Given the description of an element on the screen output the (x, y) to click on. 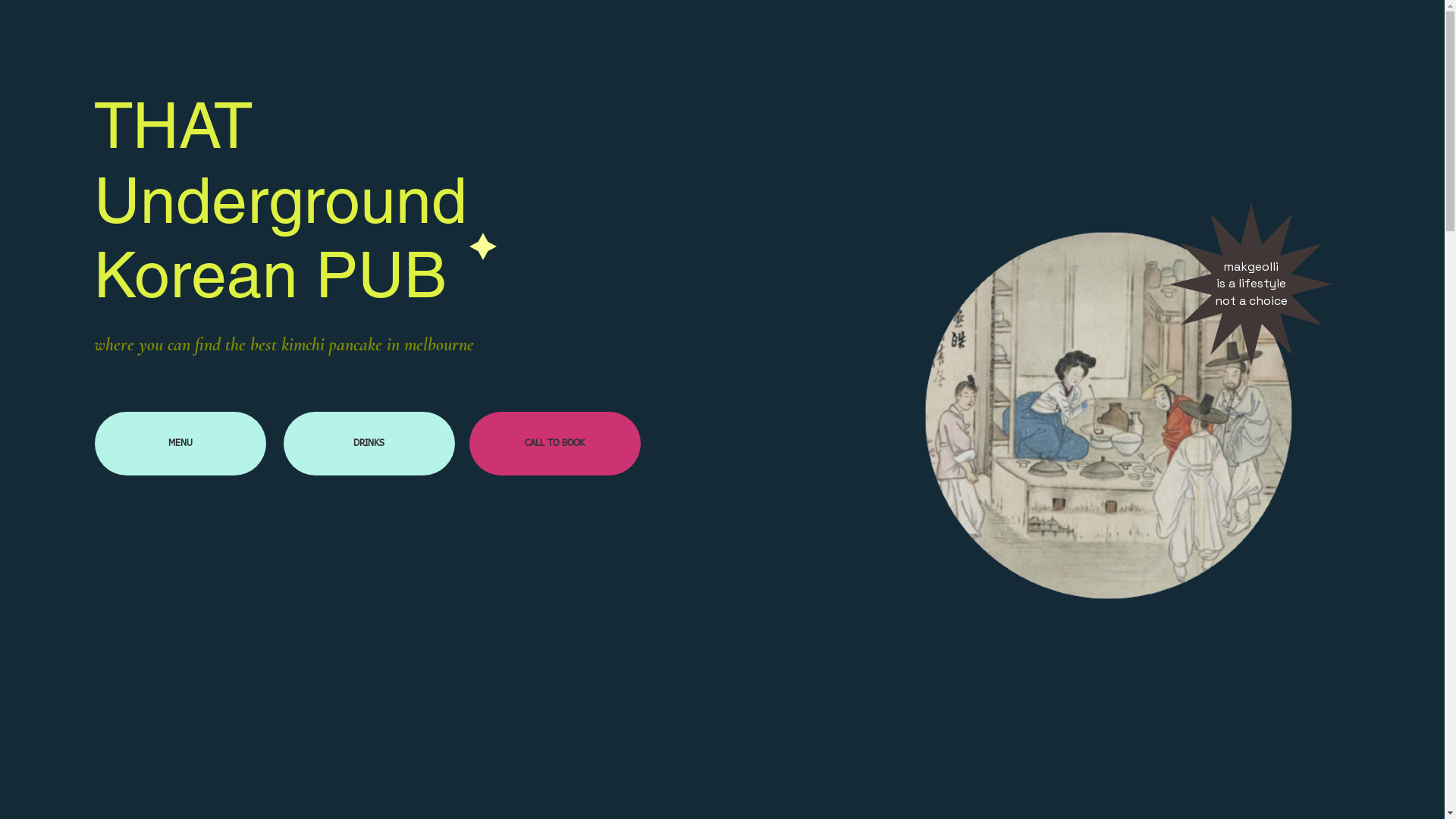
DRINKS Element type: text (369, 443)
CALL TO BOOK Element type: text (554, 443)
MENU Element type: text (179, 443)
